Given the description of an element on the screen output the (x, y) to click on. 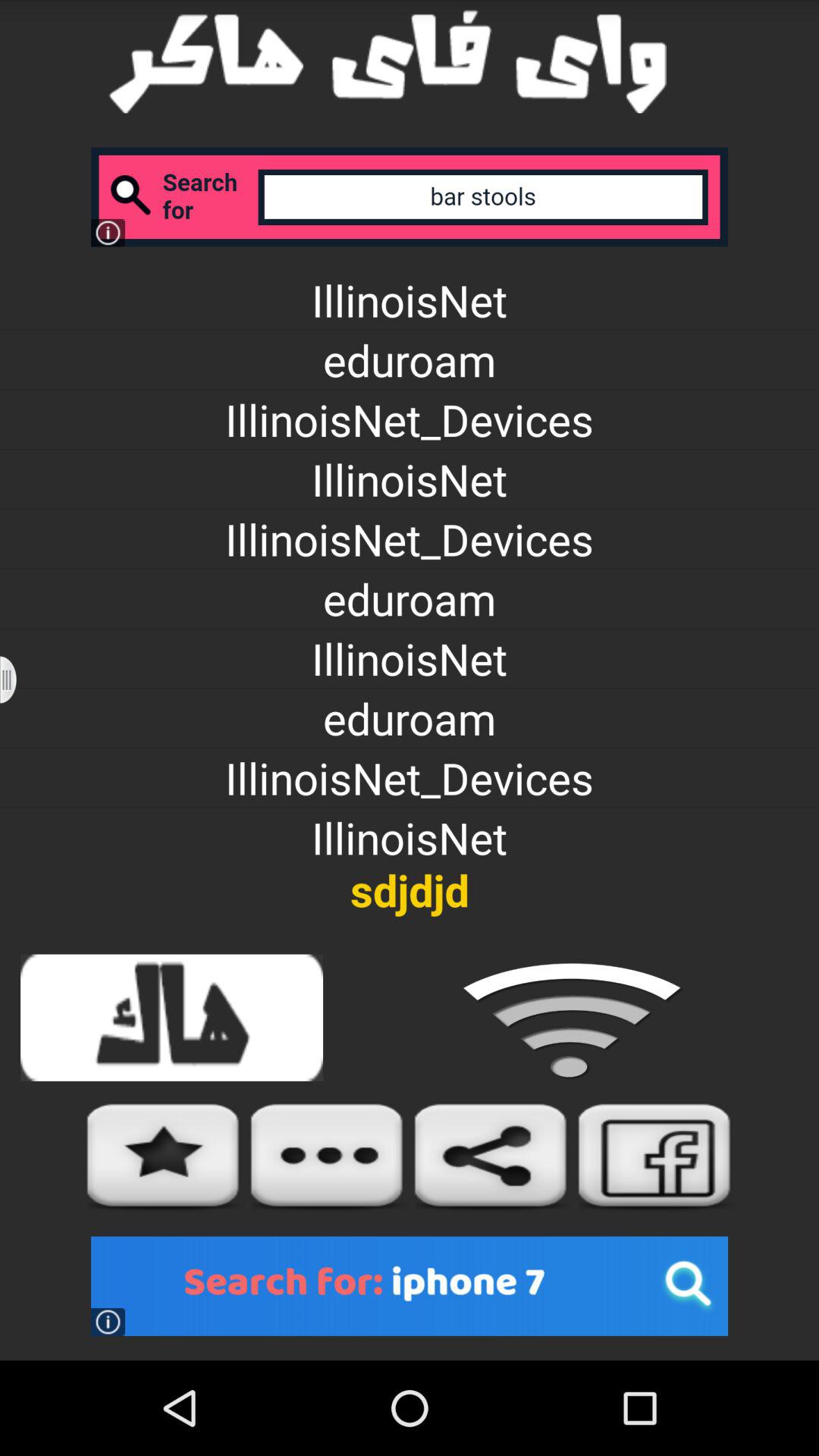
turn on item above the sdjdjd item (18, 679)
